Given the description of an element on the screen output the (x, y) to click on. 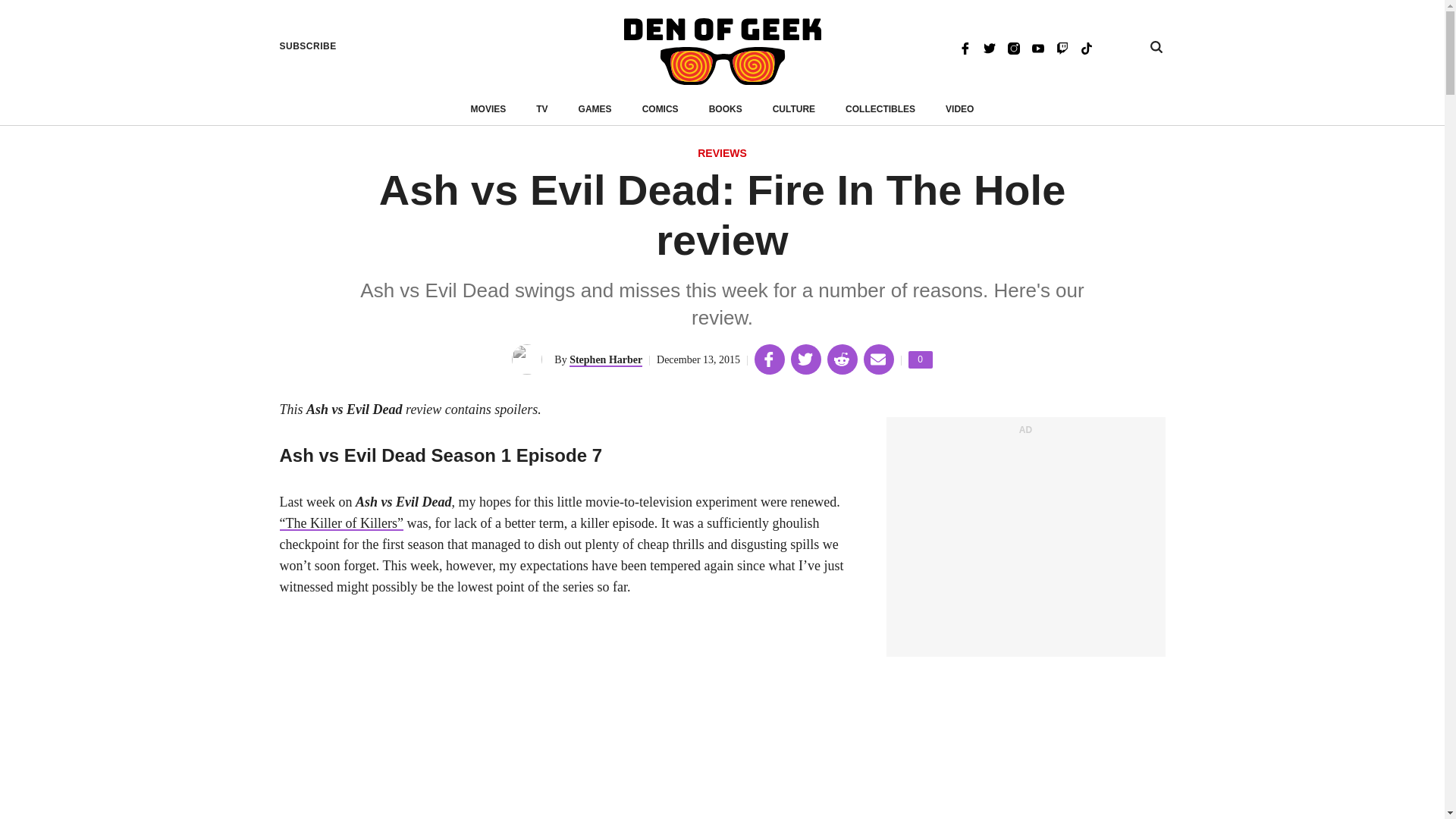
SUBSCRIBE (307, 46)
Instagram (1013, 46)
TikTok (1085, 46)
TV (541, 109)
Twitch (1061, 46)
REVIEWS (721, 153)
Facebook (964, 46)
CULTURE (920, 359)
GAMES (794, 109)
COLLECTIBLES (594, 109)
BOOKS (880, 109)
Twitter (725, 109)
Den of Geek (988, 46)
MOVIES (722, 52)
